Given the description of an element on the screen output the (x, y) to click on. 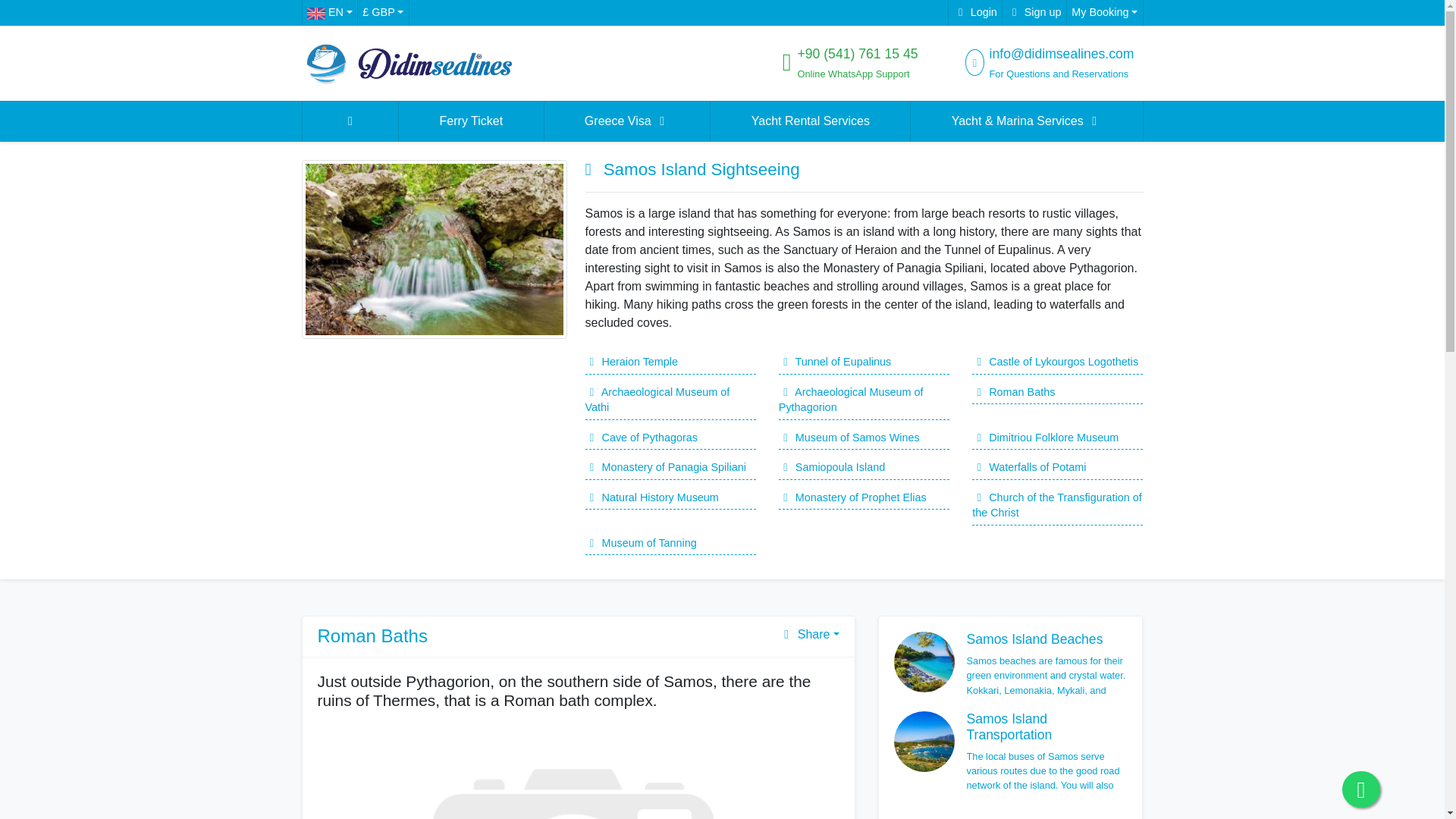
Ferry Ticket (470, 121)
Castle of Lykourgos Logothetis (1057, 361)
Archaeological Museum of Pythagorion (863, 400)
Heraion Temple (670, 361)
Yacht Rental Services (810, 121)
My Booking (1103, 12)
Tunnel of Eupalinus (863, 361)
Monastery of Panagia Spiliani (670, 467)
Login (974, 12)
Archaeological Museum of Vathi (670, 400)
